Given the description of an element on the screen output the (x, y) to click on. 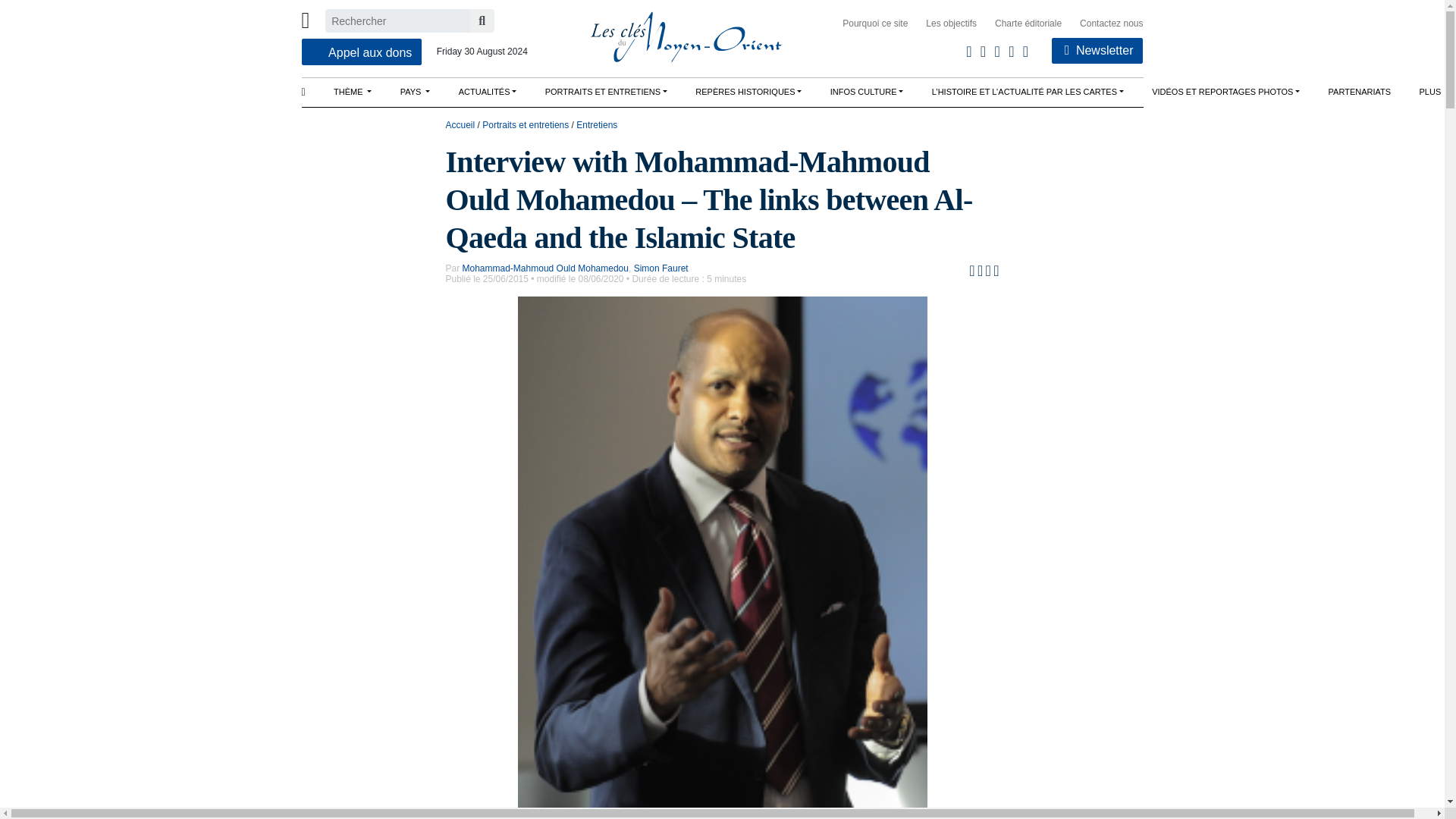
Les objectifs (941, 23)
Pourquoi ce site (865, 23)
Contactez nous (1101, 23)
Newsletter (1096, 50)
Appel aux dons (361, 51)
